Given the description of an element on the screen output the (x, y) to click on. 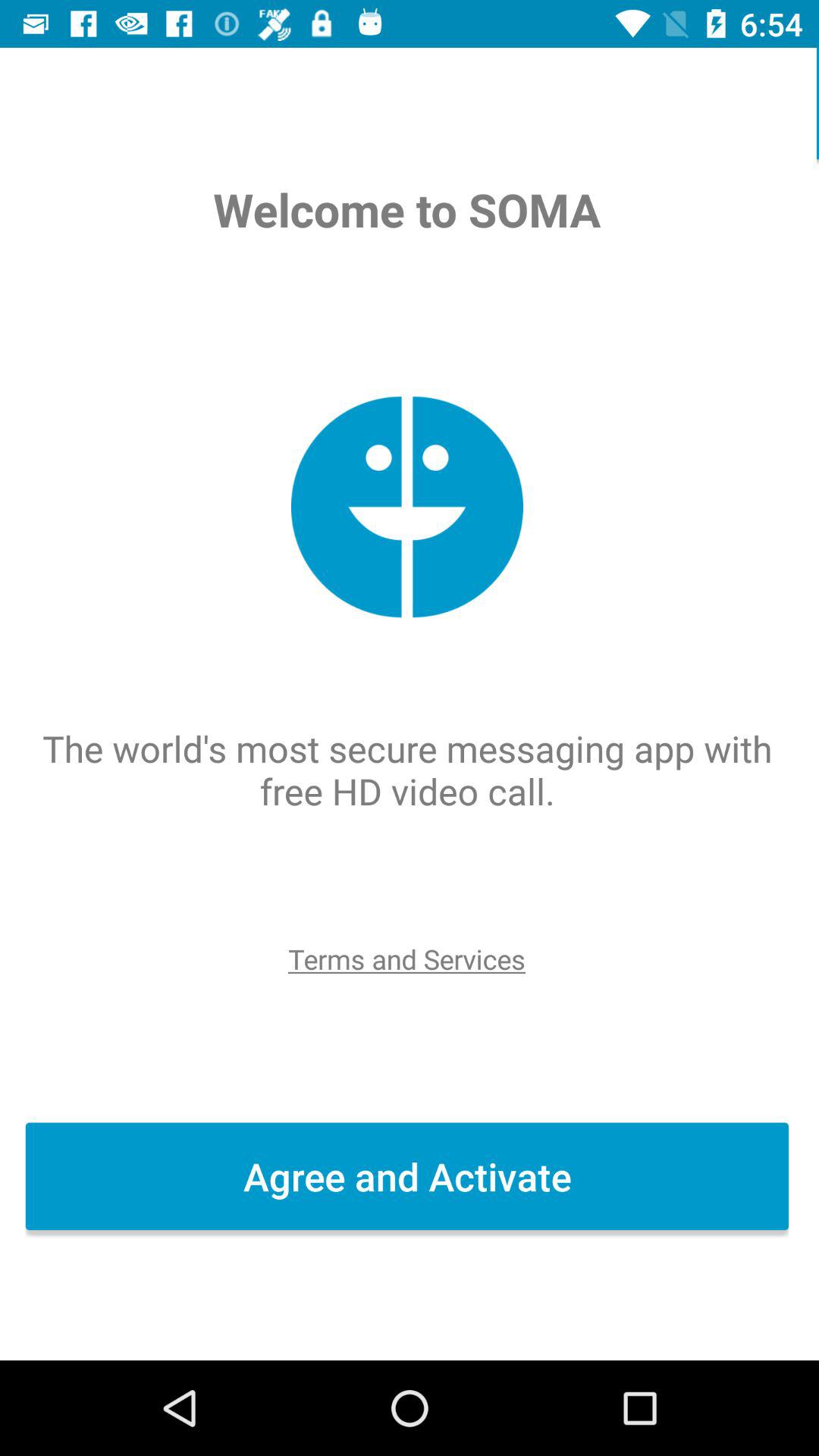
choose item below terms and services item (409, 1176)
